Given the description of an element on the screen output the (x, y) to click on. 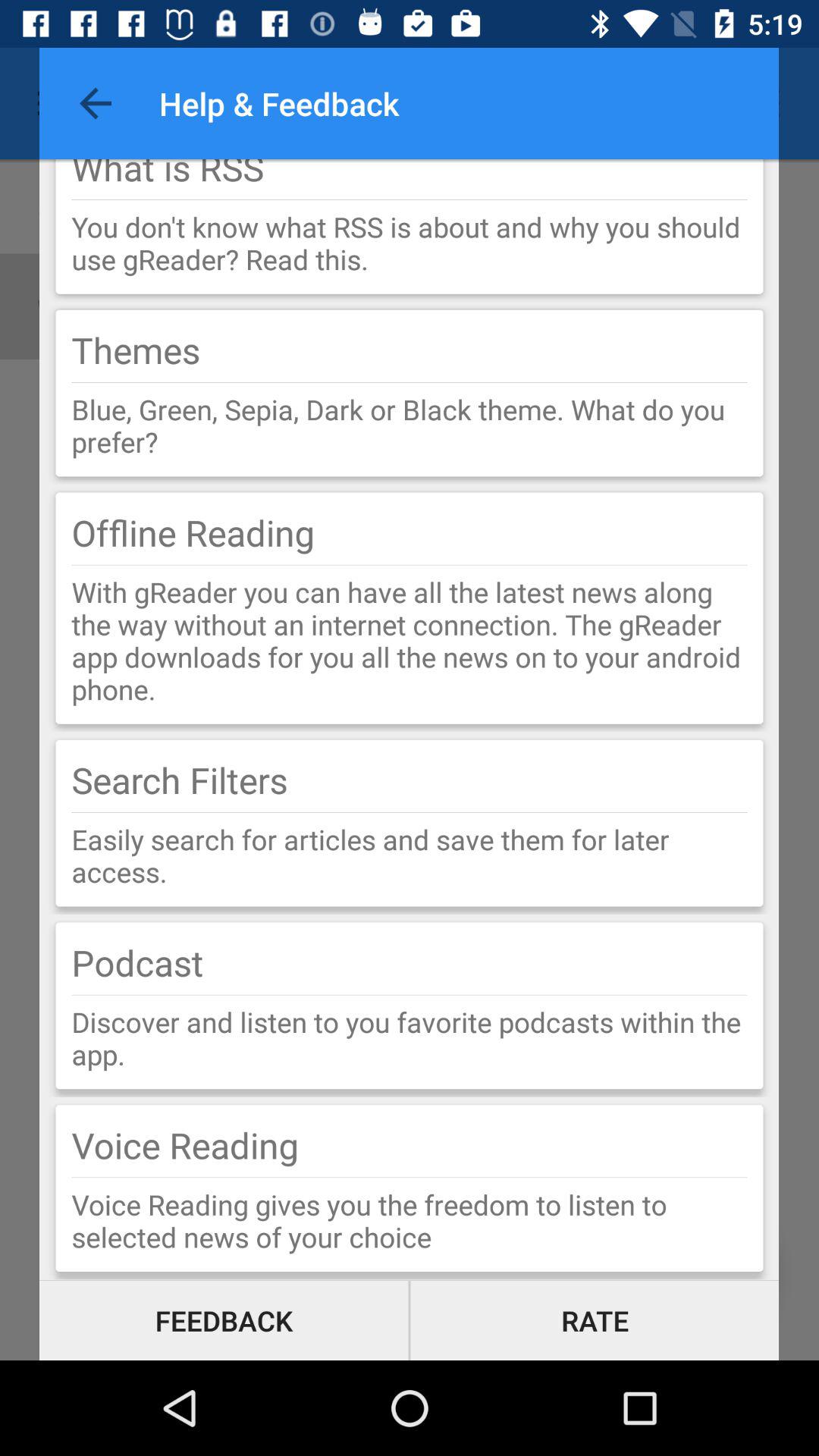
open the you don t icon (409, 243)
